Given the description of an element on the screen output the (x, y) to click on. 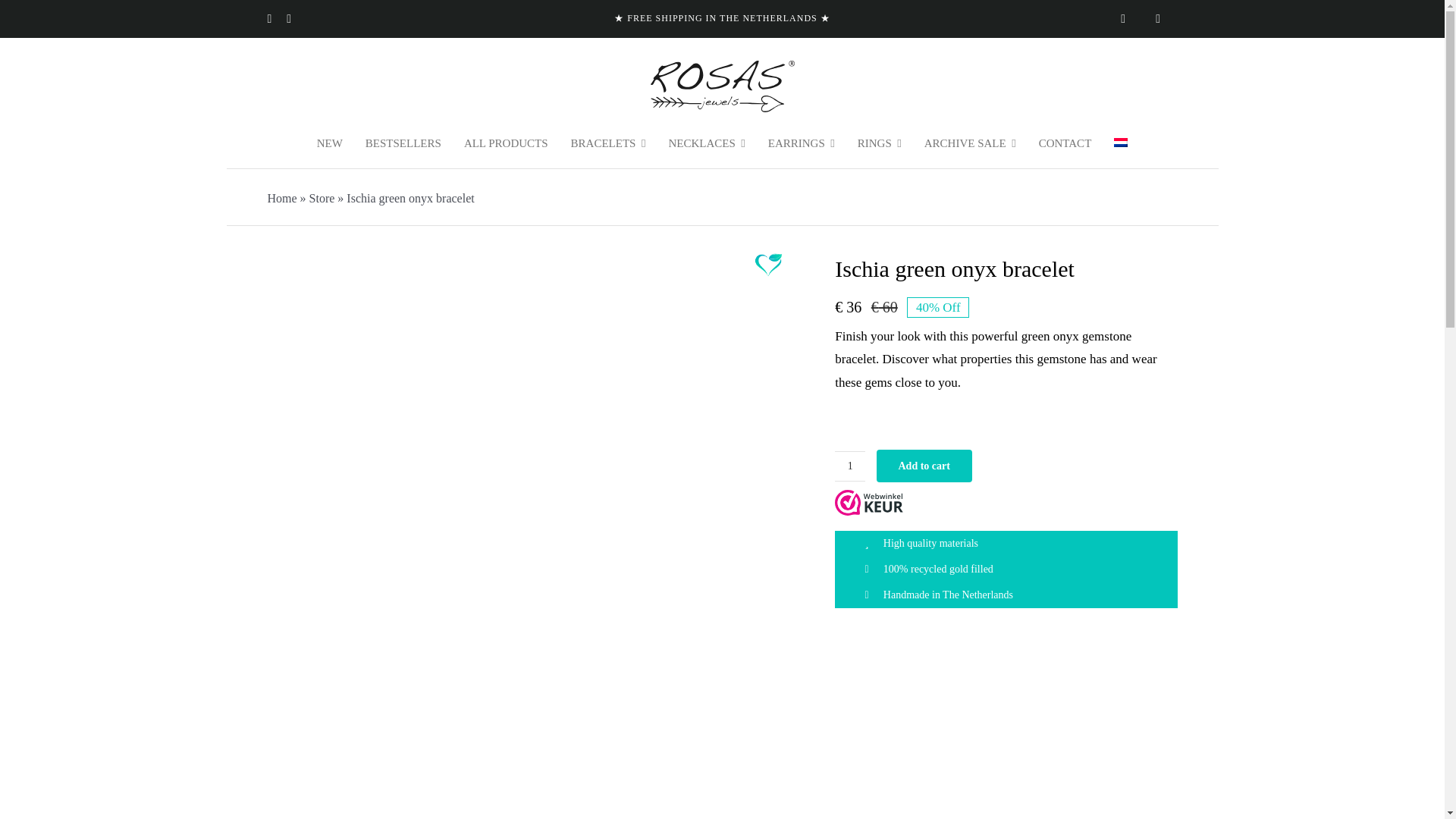
NEW (329, 143)
BRACELETS (608, 143)
ARCHIVE SALE (970, 143)
1 (849, 466)
NECKLACES (706, 143)
ALL PRODUCTS (506, 143)
EARRINGS (801, 143)
RINGS (879, 143)
webwinkelkeur (868, 502)
BESTSELLERS (403, 143)
